Given the description of an element on the screen output the (x, y) to click on. 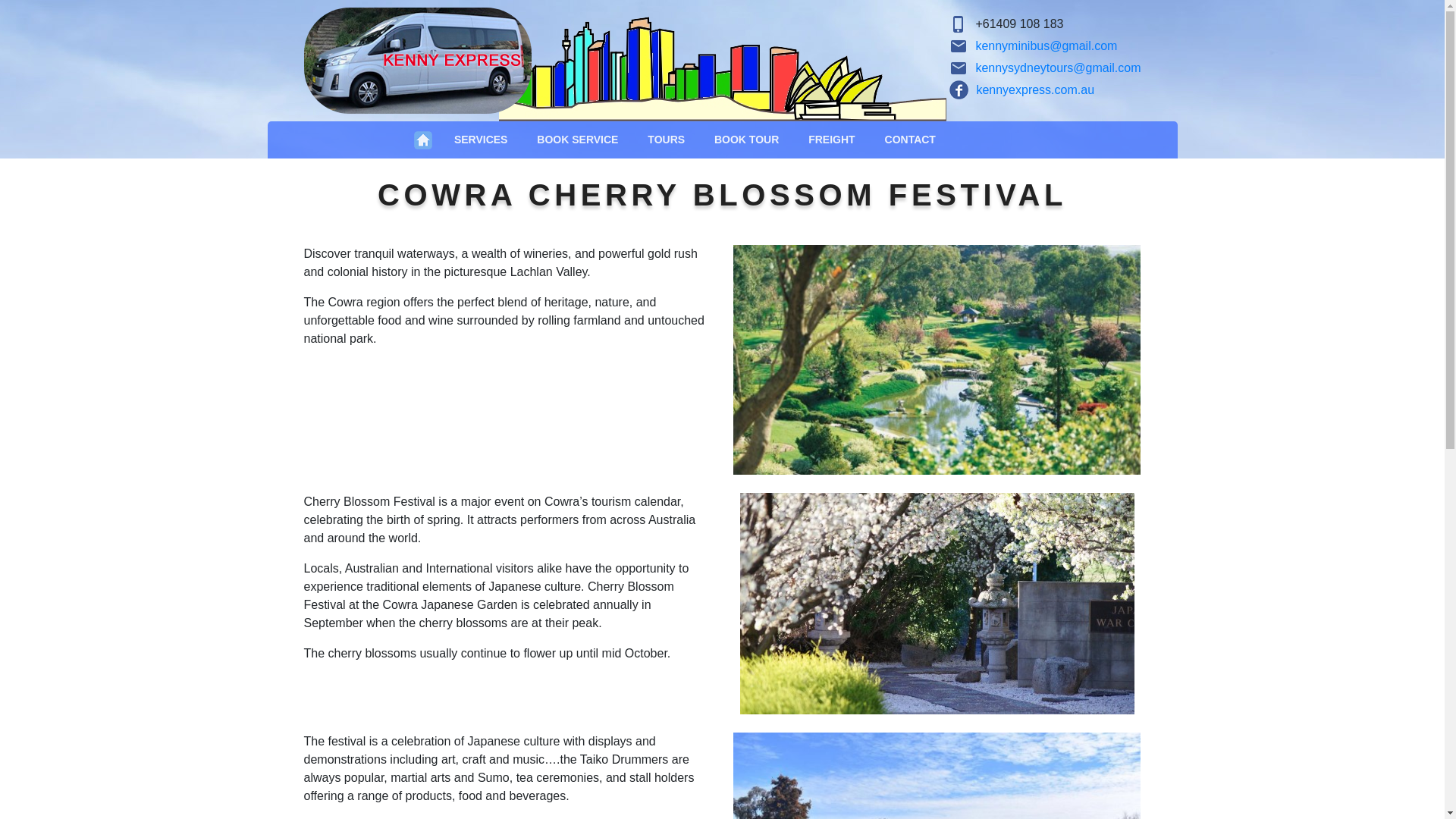
SERVICES Element type: text (480, 139)
BOOK TOUR Element type: text (745, 139)
kennyexpress.com.au Element type: text (1021, 89)
TOURS Element type: text (666, 139)
kennysydneytours@gmail.com Element type: text (1057, 67)
FREIGHT Element type: text (831, 139)
Skip to content Element type: text (0, 0)
HOME Element type: text (422, 139)
BOOK SERVICE Element type: text (577, 139)
CONTACT Element type: text (909, 139)
kennyminibus@gmail.com Element type: text (1046, 45)
